Given the description of an element on the screen output the (x, y) to click on. 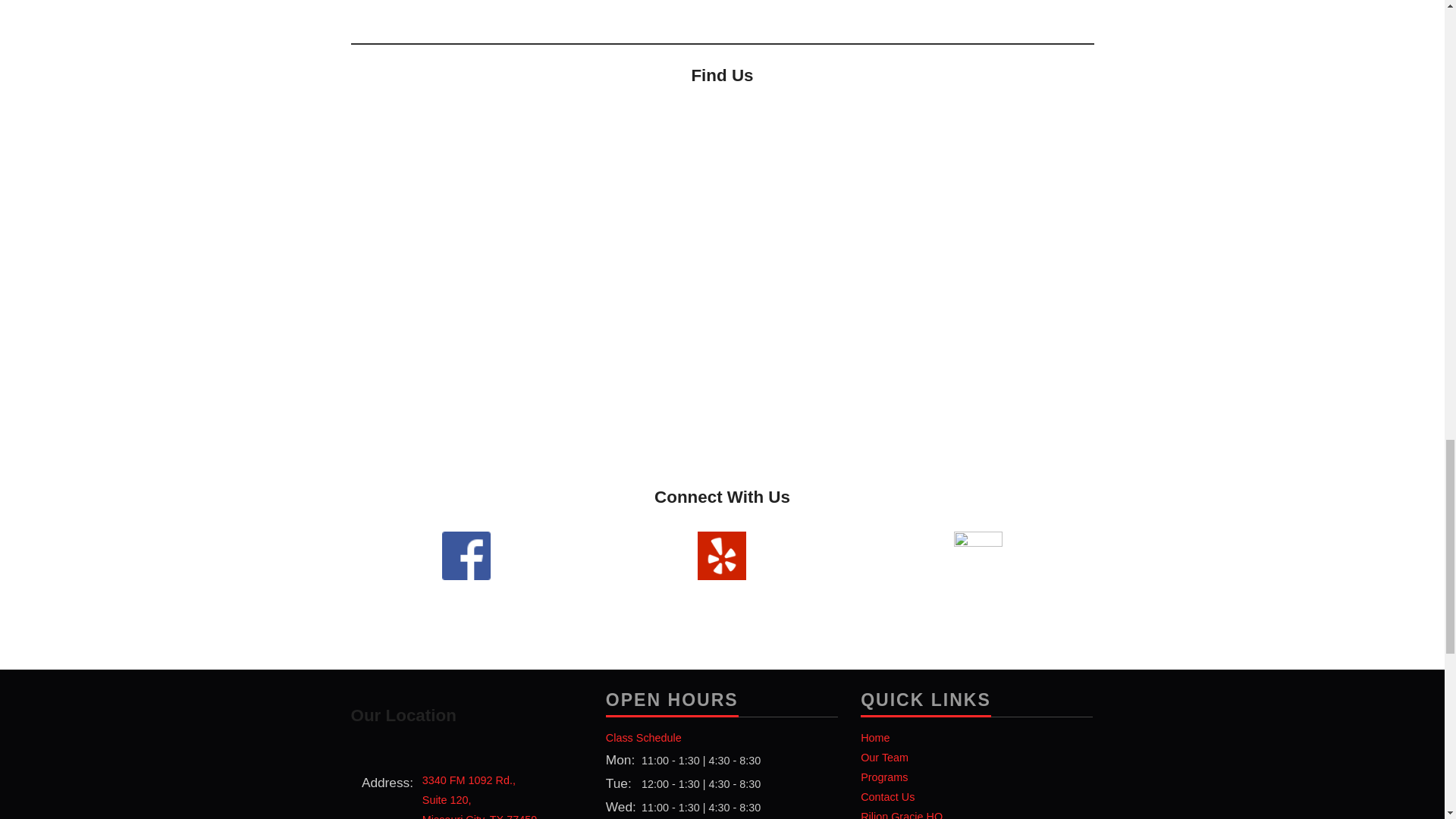
Contact Us (887, 797)
Class Schedule (643, 737)
Rilion Gracie Jiu Jitsu Academy Houston TX (592, 10)
Our Team (479, 796)
Programs (884, 757)
Home (883, 776)
